Given the description of an element on the screen output the (x, y) to click on. 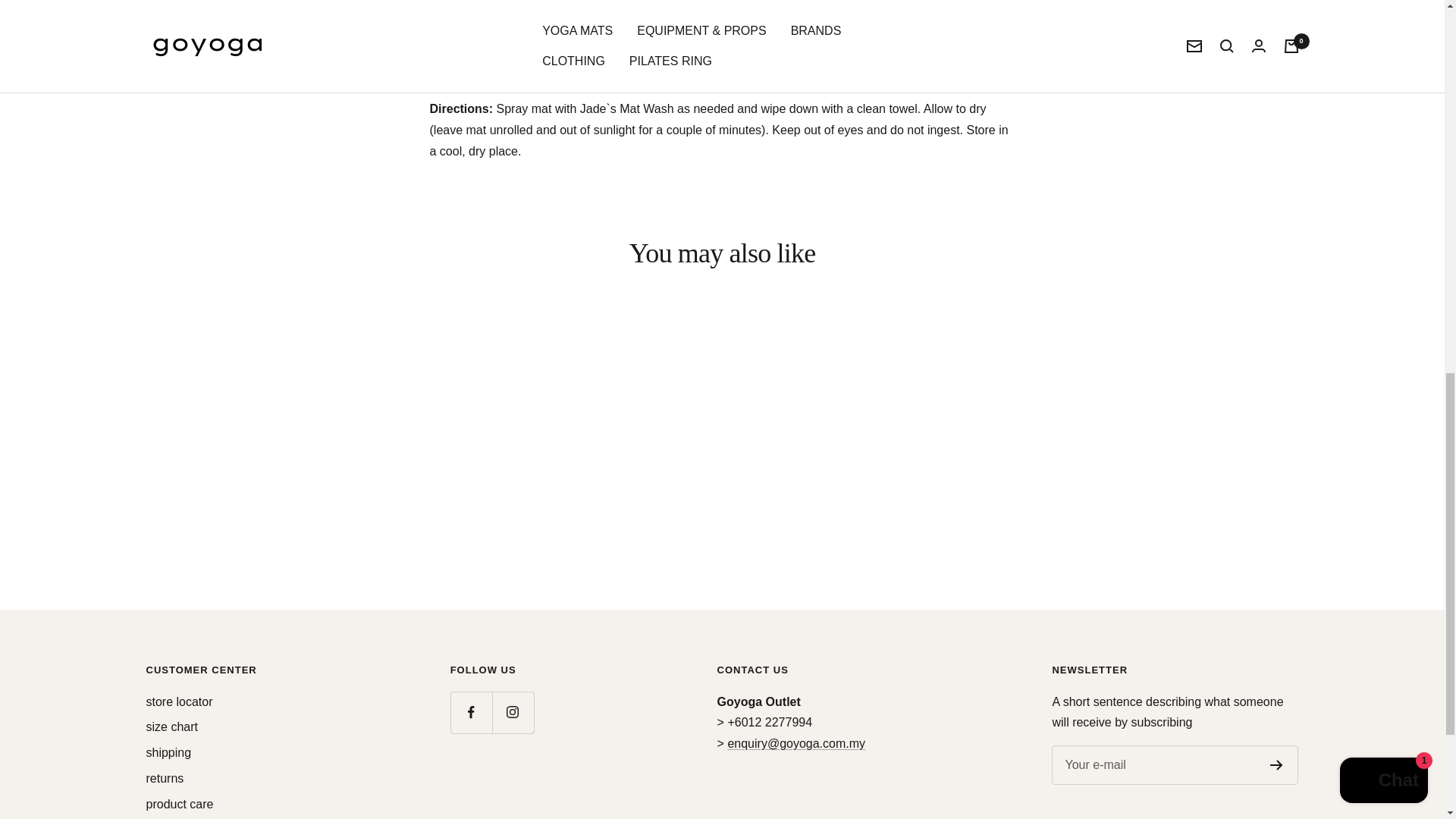
Register (1275, 765)
